Given the description of an element on the screen output the (x, y) to click on. 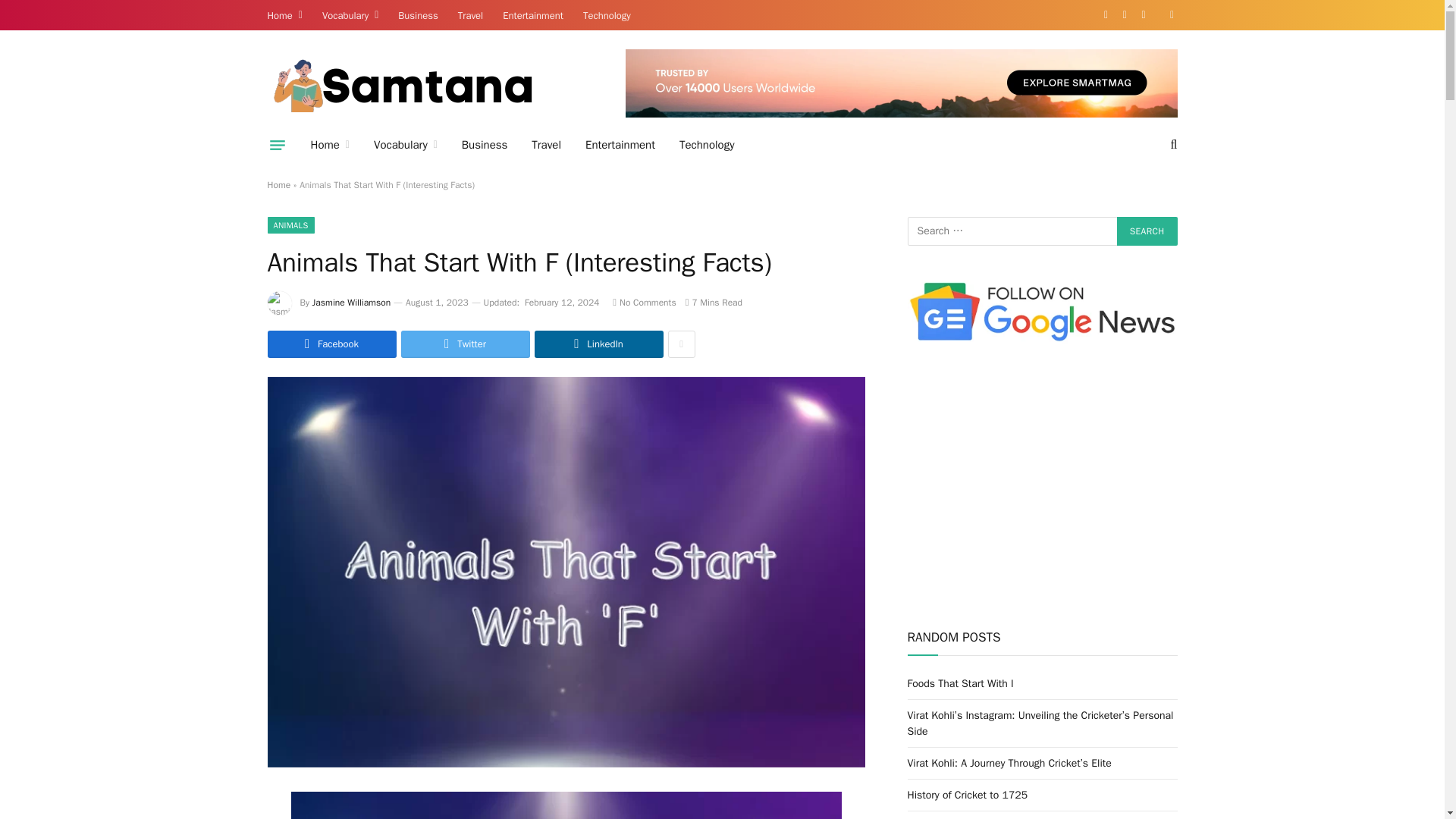
Search (1146, 231)
Entertainment (619, 144)
Technology (606, 15)
Switch to Dark Design - easier on eyes. (1170, 14)
Vocabulary (350, 15)
Share on LinkedIn (598, 343)
Search (1146, 231)
Business (484, 144)
Business (417, 15)
Entertainment (533, 15)
Facebook (1106, 15)
Home (329, 144)
Technology (706, 144)
Share on Facebook (331, 343)
Samtana (399, 85)
